Given the description of an element on the screen output the (x, y) to click on. 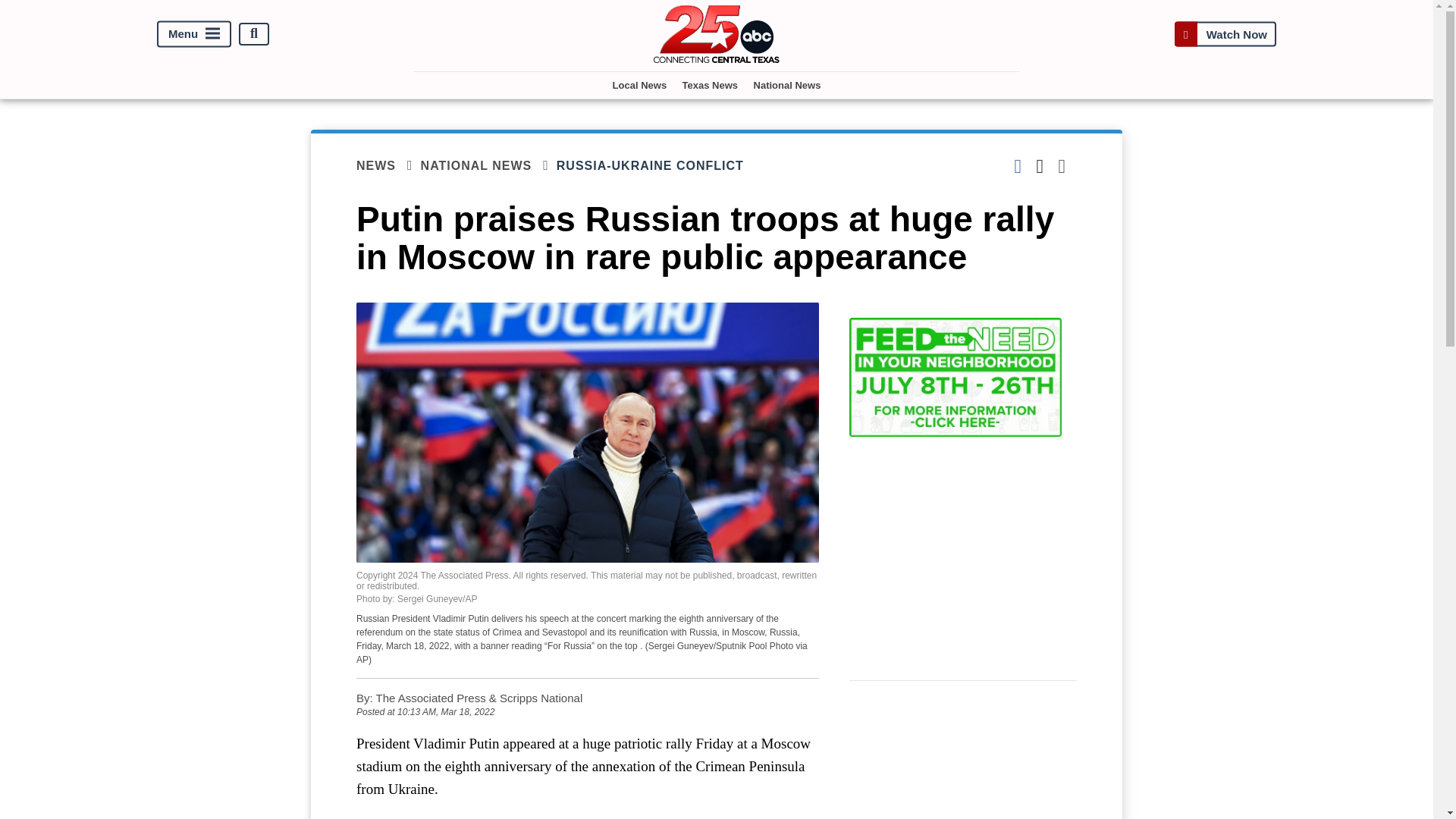
Menu (194, 33)
Watch Now (1224, 33)
